Given the description of an element on the screen output the (x, y) to click on. 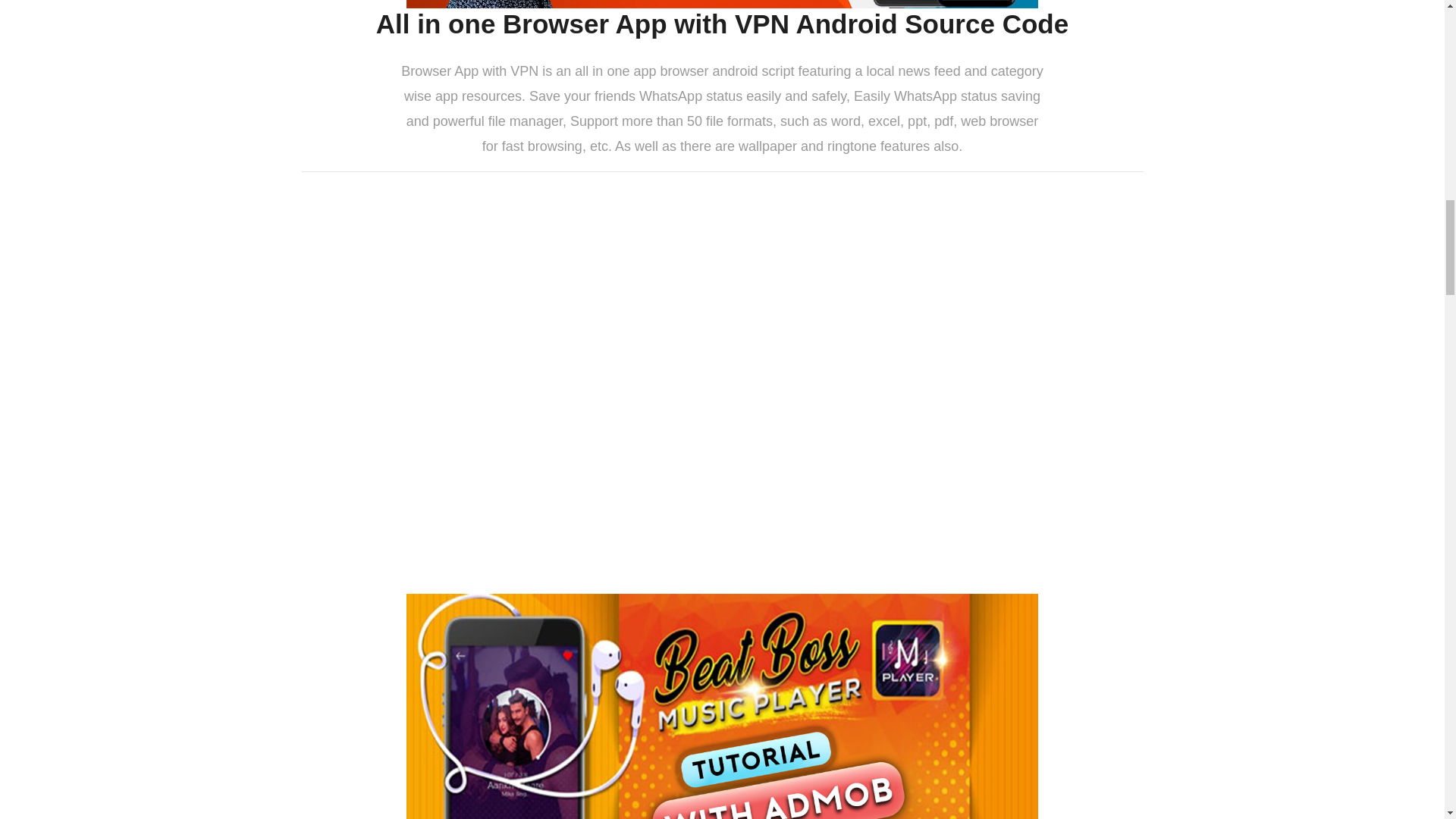
All in one Browser App with VPN Android Source Code (721, 24)
